Given the description of an element on the screen output the (x, y) to click on. 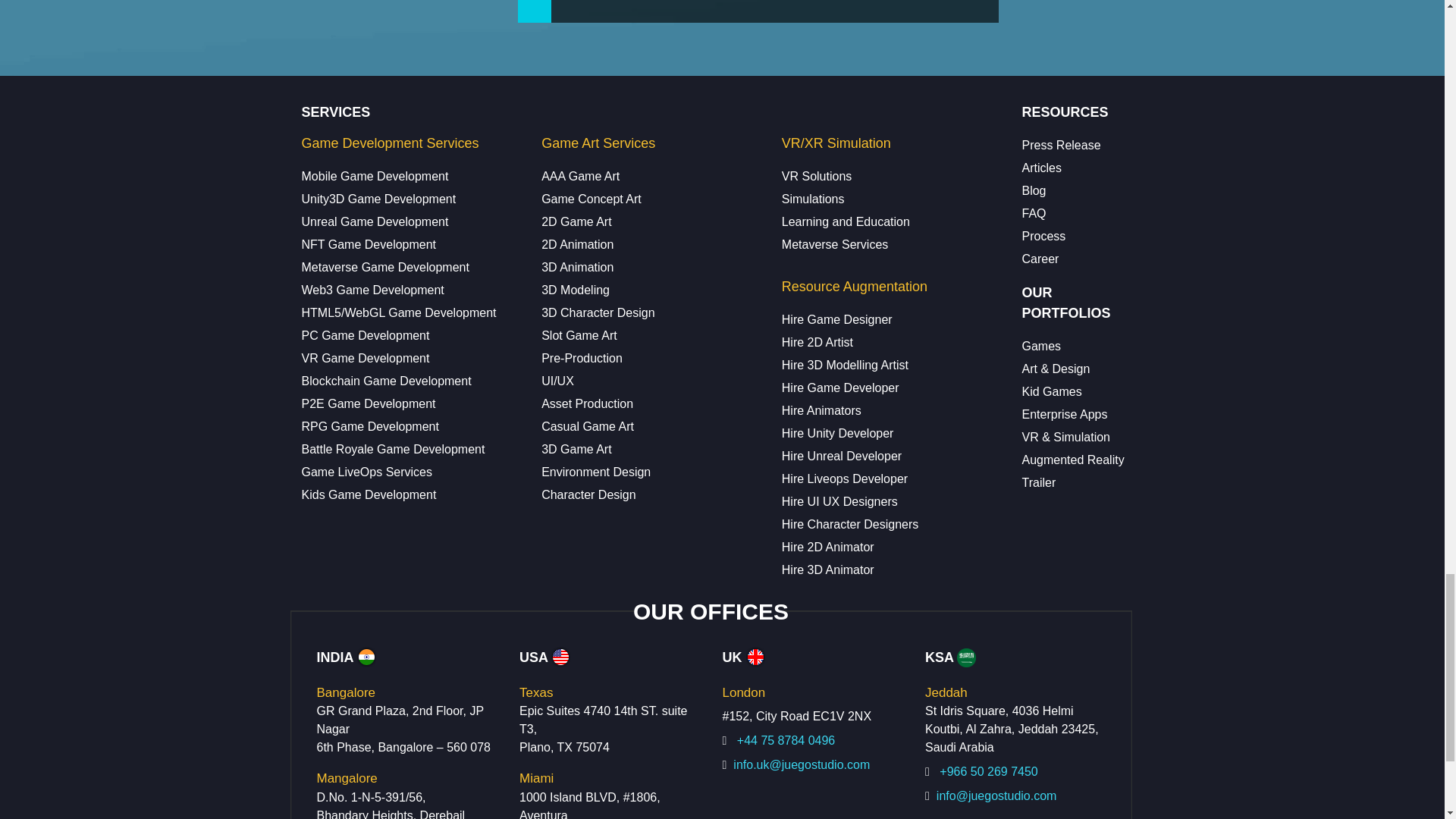
Kids Game Development Services (368, 494)
Unreal Game Development Company (374, 221)
PC Game Development Company (365, 335)
2D Game Art Outsourcing Studio (576, 221)
RPG Game Development Company (370, 426)
Metaverse Game Development Company (384, 267)
Mobile Game Development Company (374, 175)
Unity 3D Game Development Company (379, 198)
Blockchain Game Development Company (386, 380)
P2E Game Development Company (368, 403)
